Given the description of an element on the screen output the (x, y) to click on. 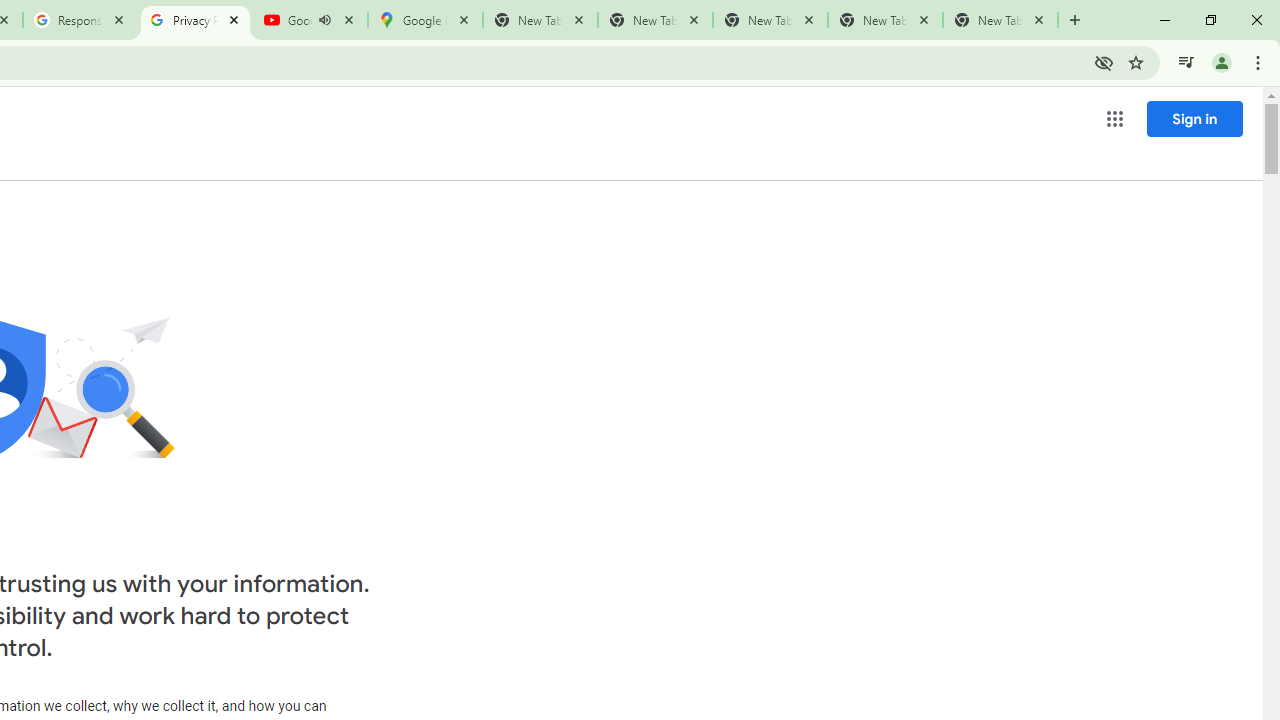
Control your music, videos, and more (1185, 62)
Mute tab (324, 20)
Google Maps (424, 20)
New Tab (1000, 20)
